Given the description of an element on the screen output the (x, y) to click on. 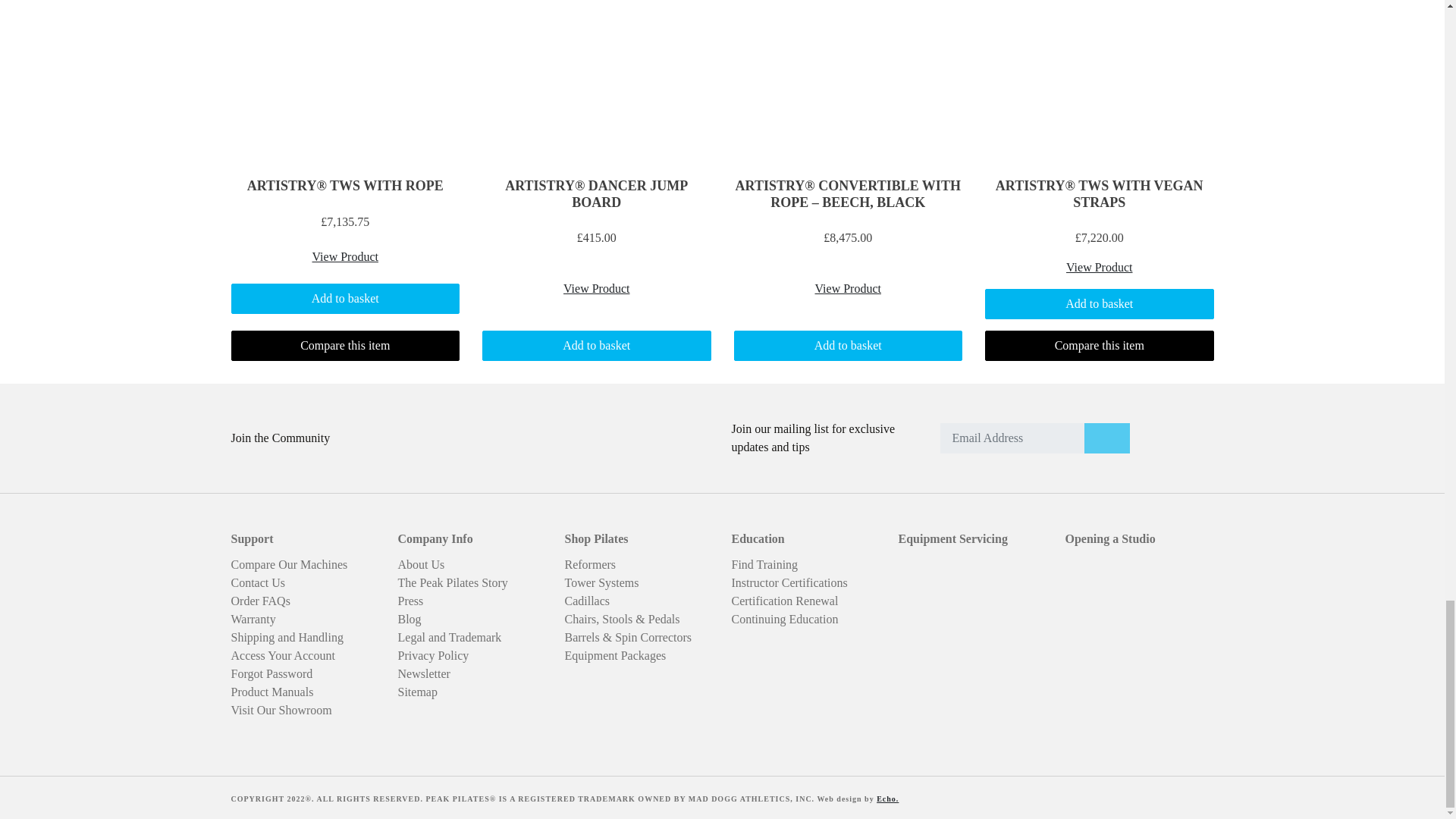
Go to Echo Web Solutions (887, 798)
Subscribe to the newsletter (1106, 438)
